Given the description of an element on the screen output the (x, y) to click on. 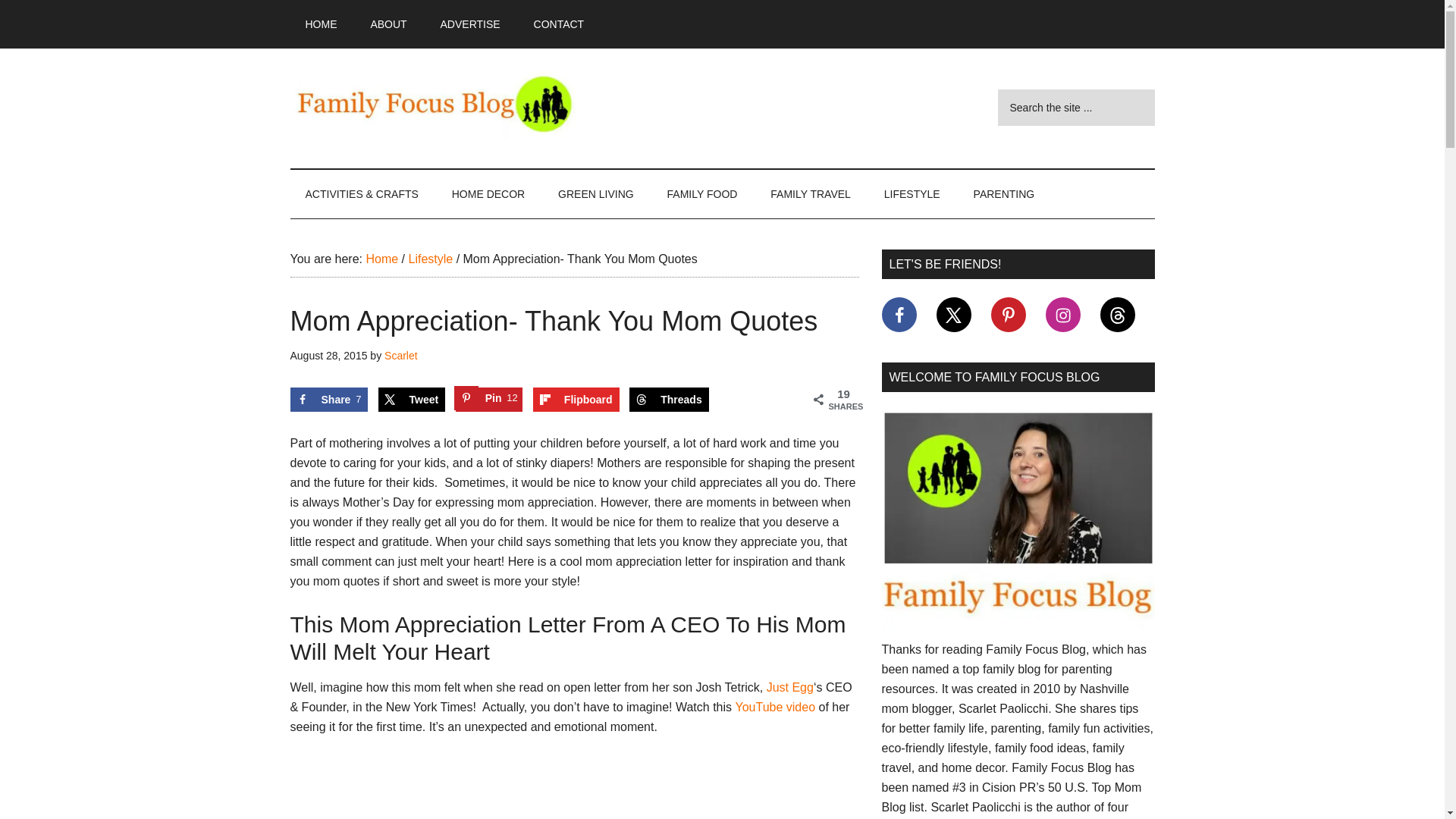
Lifestyle (429, 258)
Follow on Facebook (897, 314)
Share on Facebook (327, 399)
Follow on X (953, 314)
Save to Pinterest (488, 399)
Flipboard (576, 399)
FAMILY TRAVEL (810, 193)
FAMILY FOOD (702, 193)
